Given the description of an element on the screen output the (x, y) to click on. 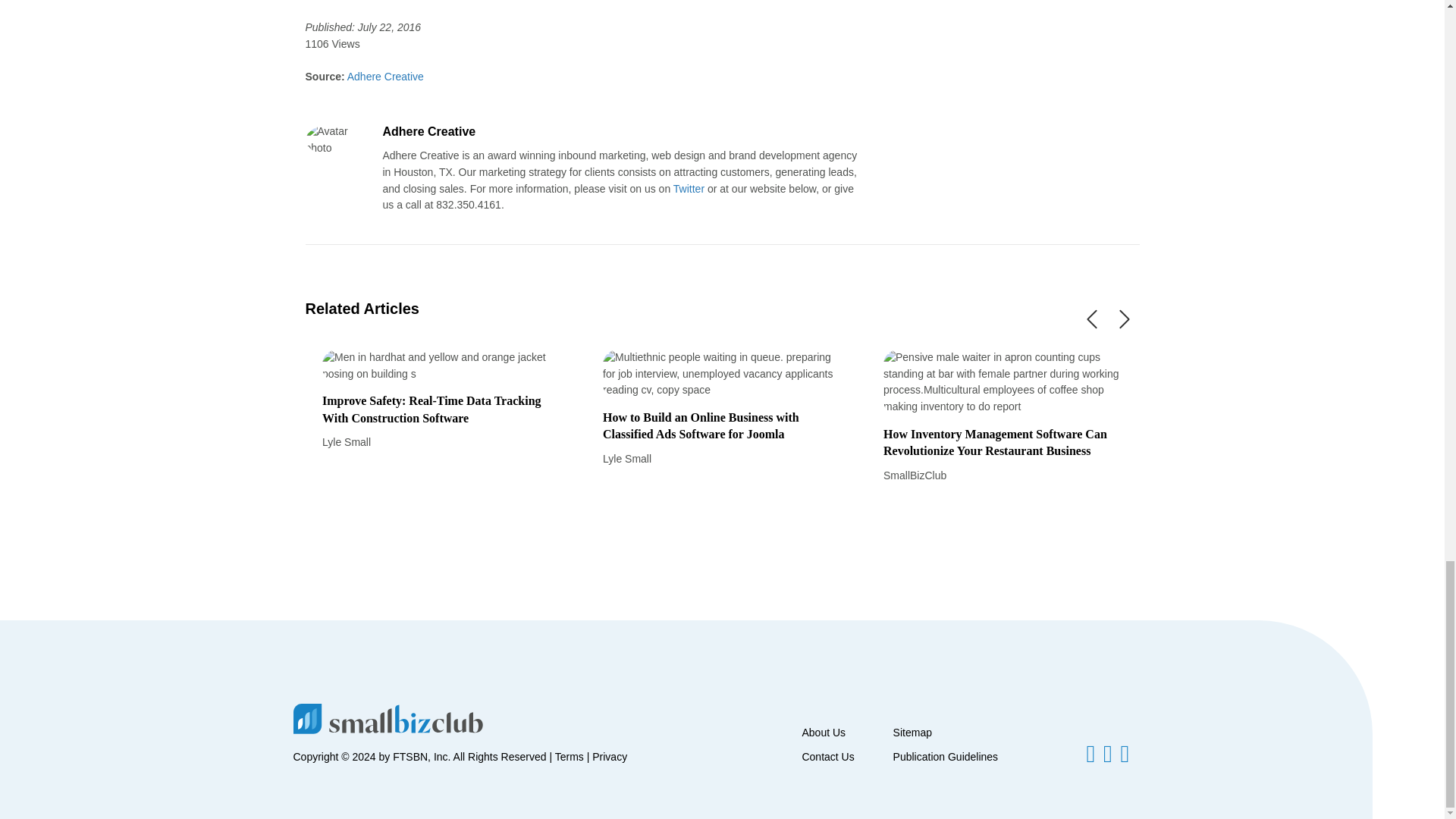
Adhere Creative (384, 76)
Twitter (688, 188)
SmallBizClub-Primary-Logo-2023 (386, 718)
